Given the description of an element on the screen output the (x, y) to click on. 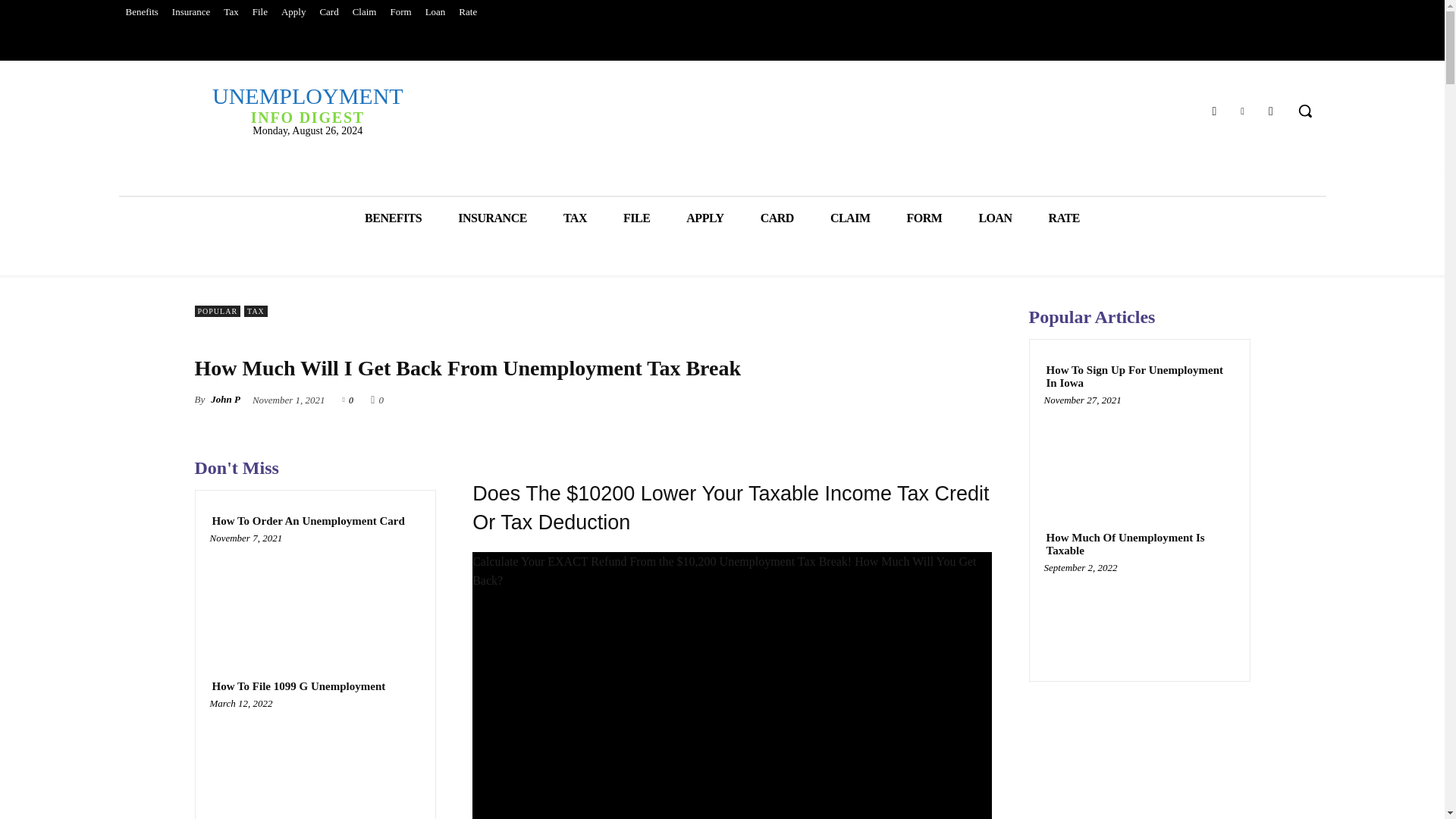
How To File 1099 G Unemployment (298, 686)
Facebook (1214, 109)
Rate (467, 12)
TAX (306, 104)
BENEFITS (574, 218)
Youtube (392, 218)
How To Order An Unemployment Card (1270, 109)
Apply (314, 594)
Loan (294, 12)
